Given the description of an element on the screen output the (x, y) to click on. 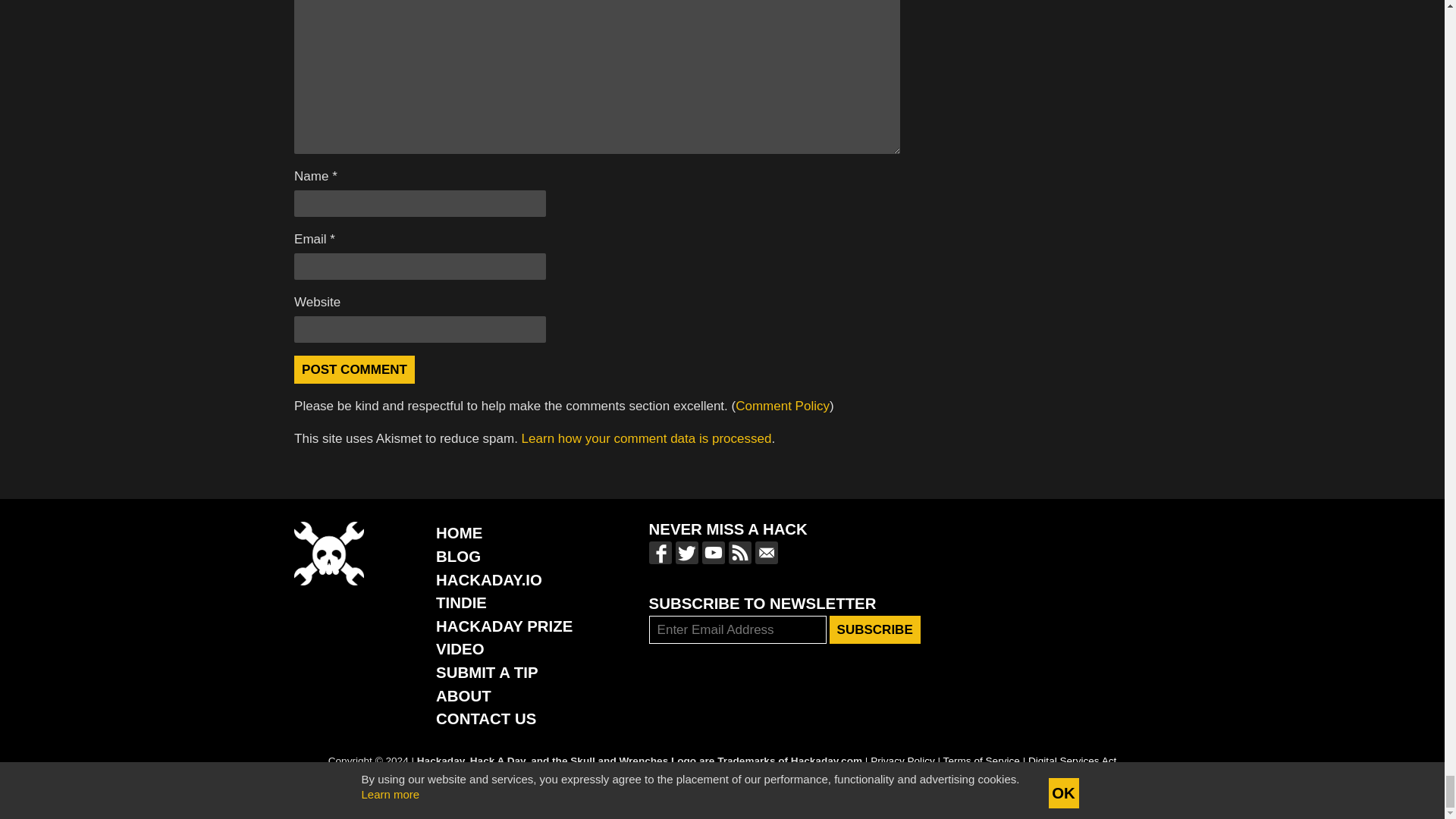
Subscribe (874, 629)
Post Comment (354, 369)
Build Something that Matters (503, 626)
